Given the description of an element on the screen output the (x, y) to click on. 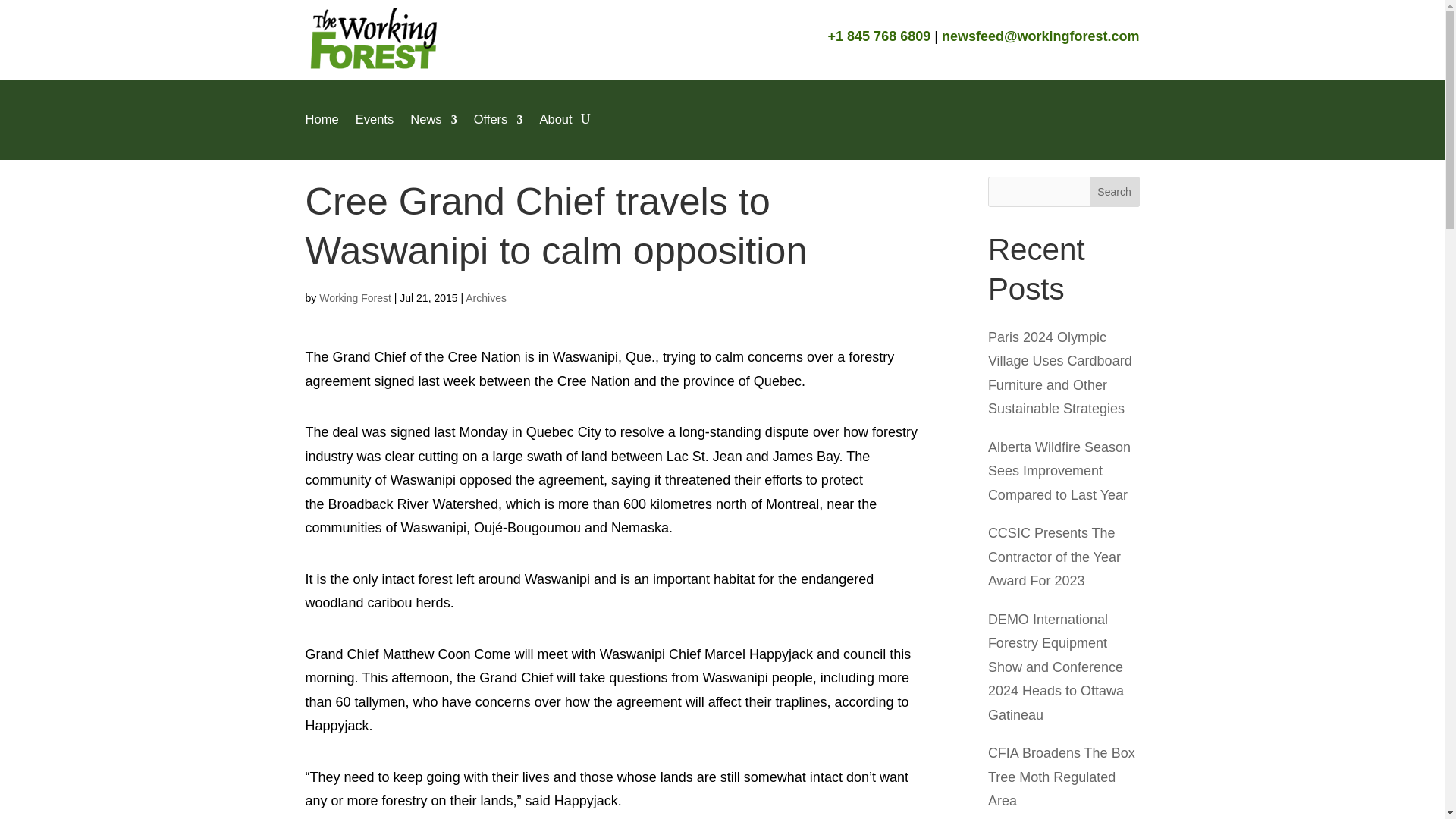
Working Forest (354, 297)
CCSIC Presents The Contractor of the Year Award For 2023 (1054, 556)
Posts by Working Forest (354, 297)
Search (1114, 191)
Archives (485, 297)
CFIA Broadens The Box Tree Moth Regulated Area (1061, 776)
